Given the description of an element on the screen output the (x, y) to click on. 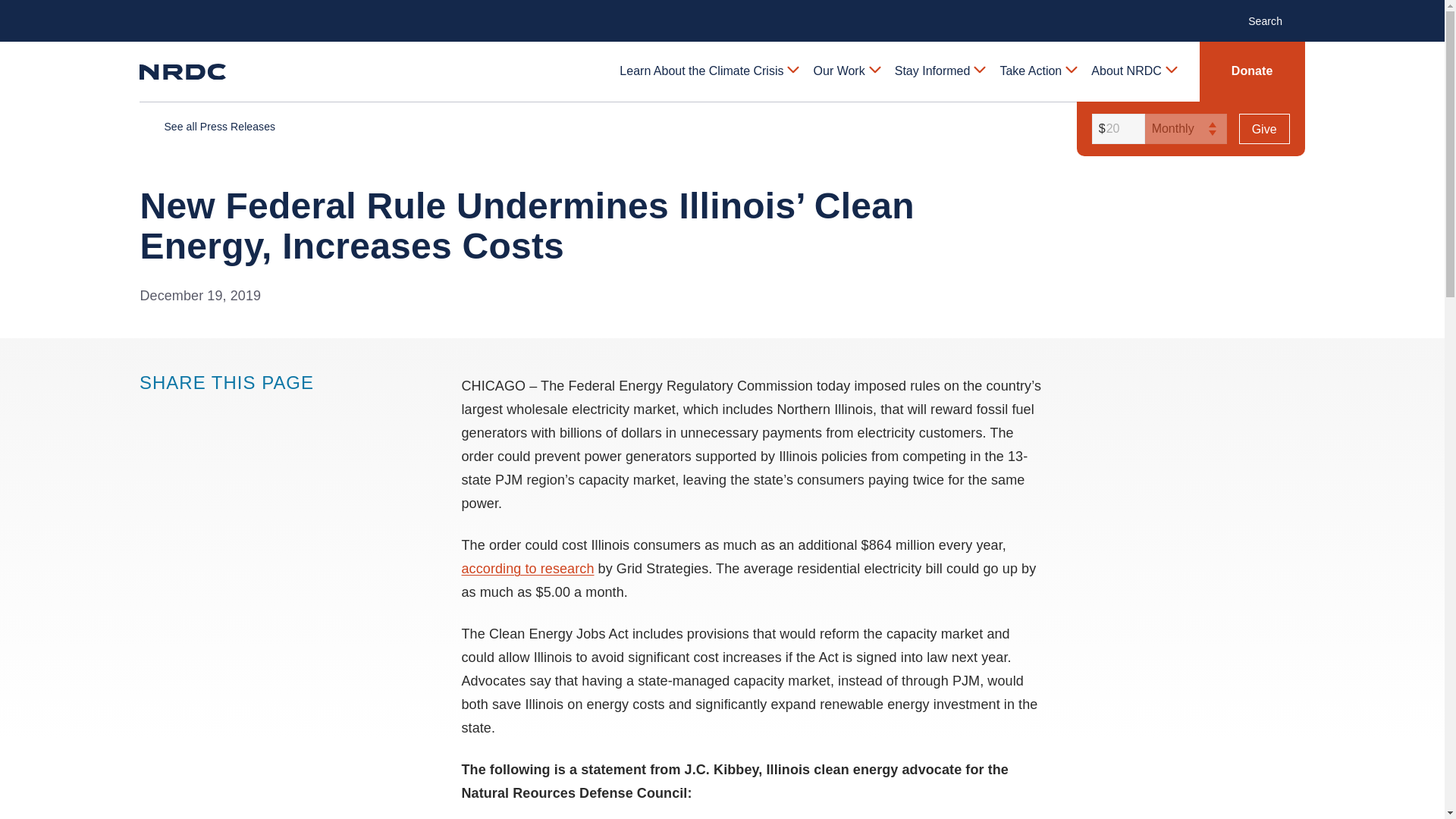
Learn About the Climate Crisis (707, 71)
Take Action (1036, 71)
Share this page block (149, 411)
Our Work (846, 71)
20 (1116, 128)
Stay Informed (939, 71)
Search (1272, 19)
Share this page block (180, 411)
Skip to main content (721, 12)
Share this page block (210, 411)
